Given the description of an element on the screen output the (x, y) to click on. 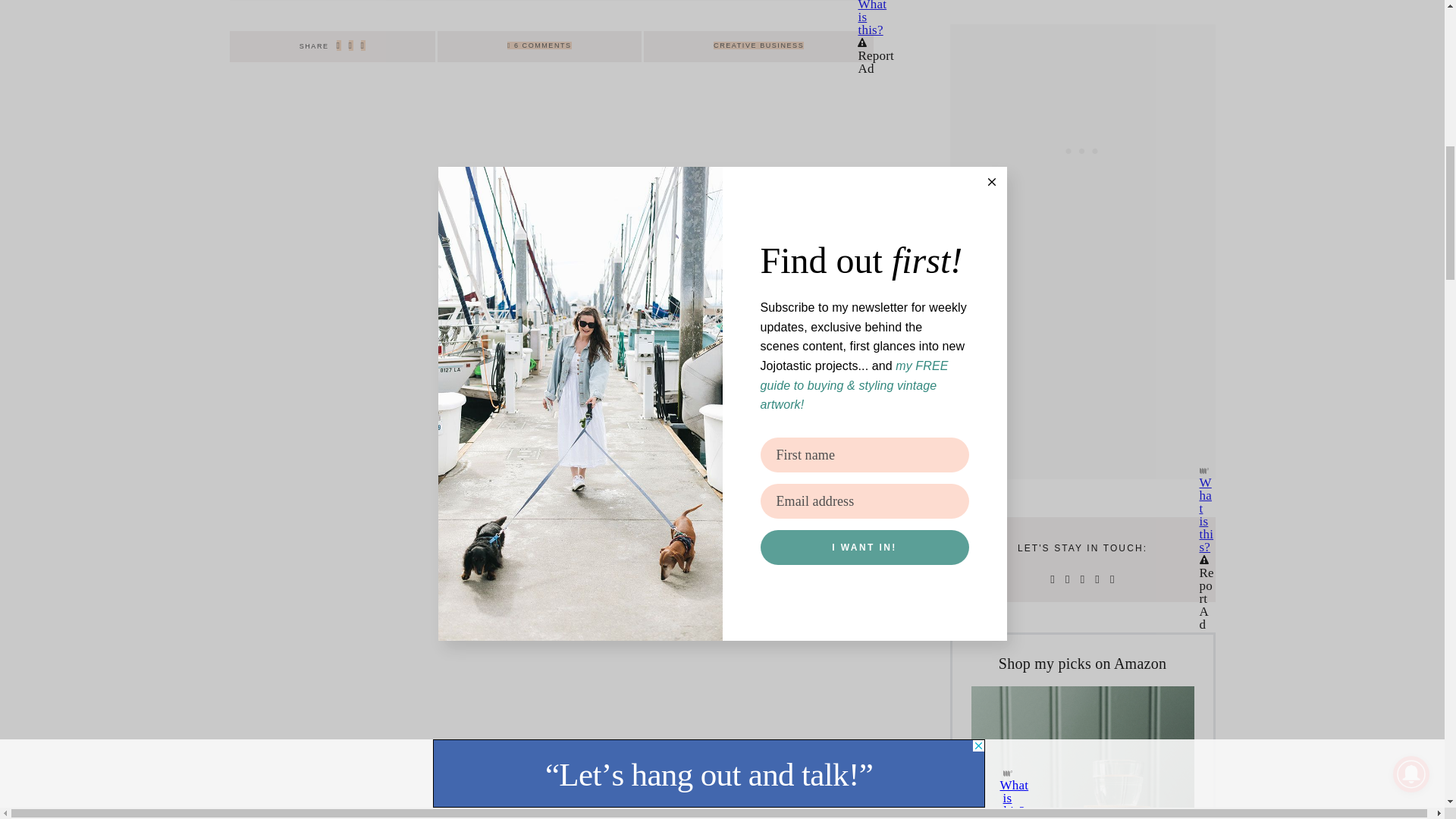
View all posts in Creative Business (758, 45)
3rd party ad content (1082, 118)
